Given the description of an element on the screen output the (x, y) to click on. 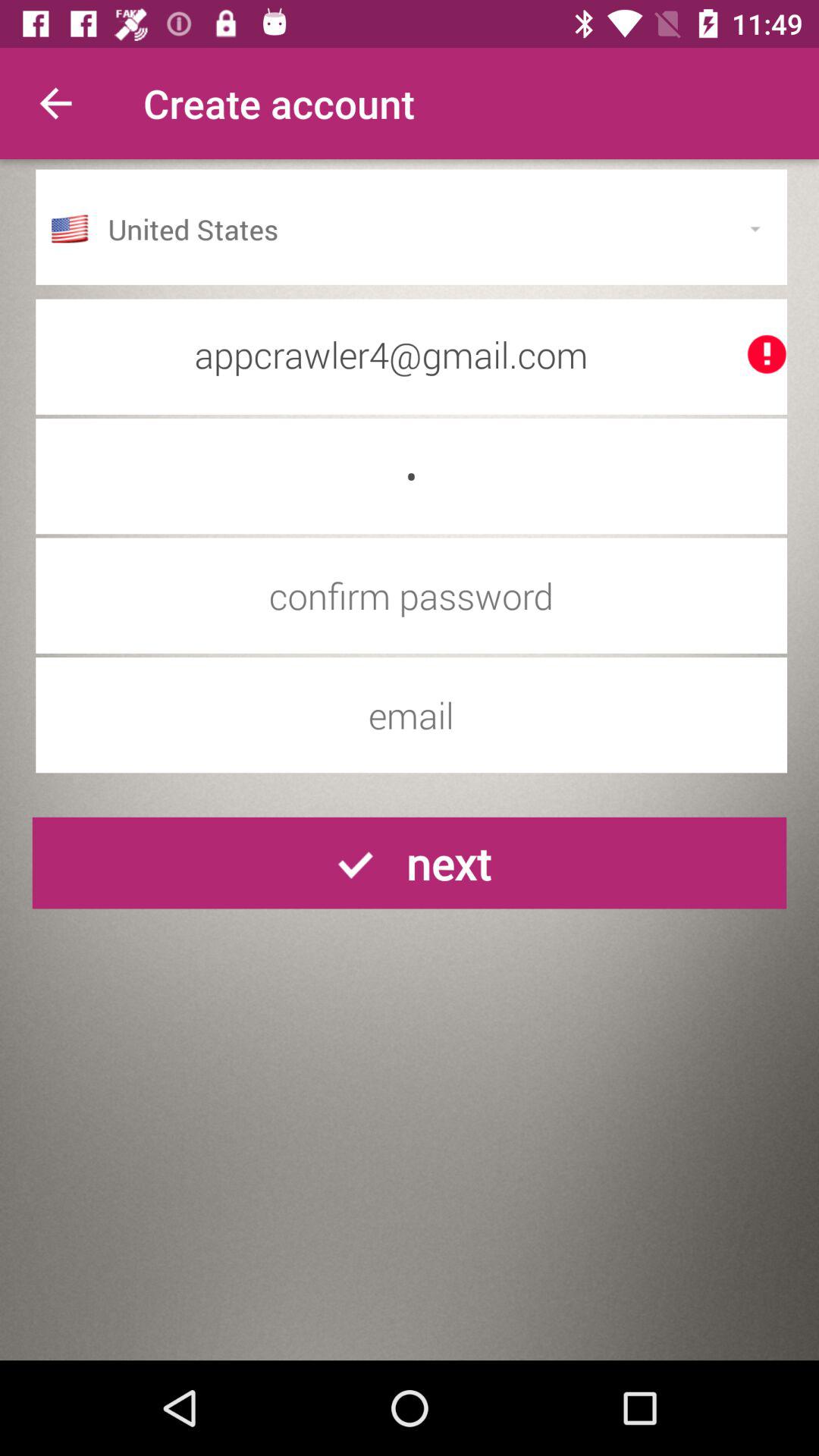
open the item below the appcrawler4@gmail.com item (411, 476)
